Given the description of an element on the screen output the (x, y) to click on. 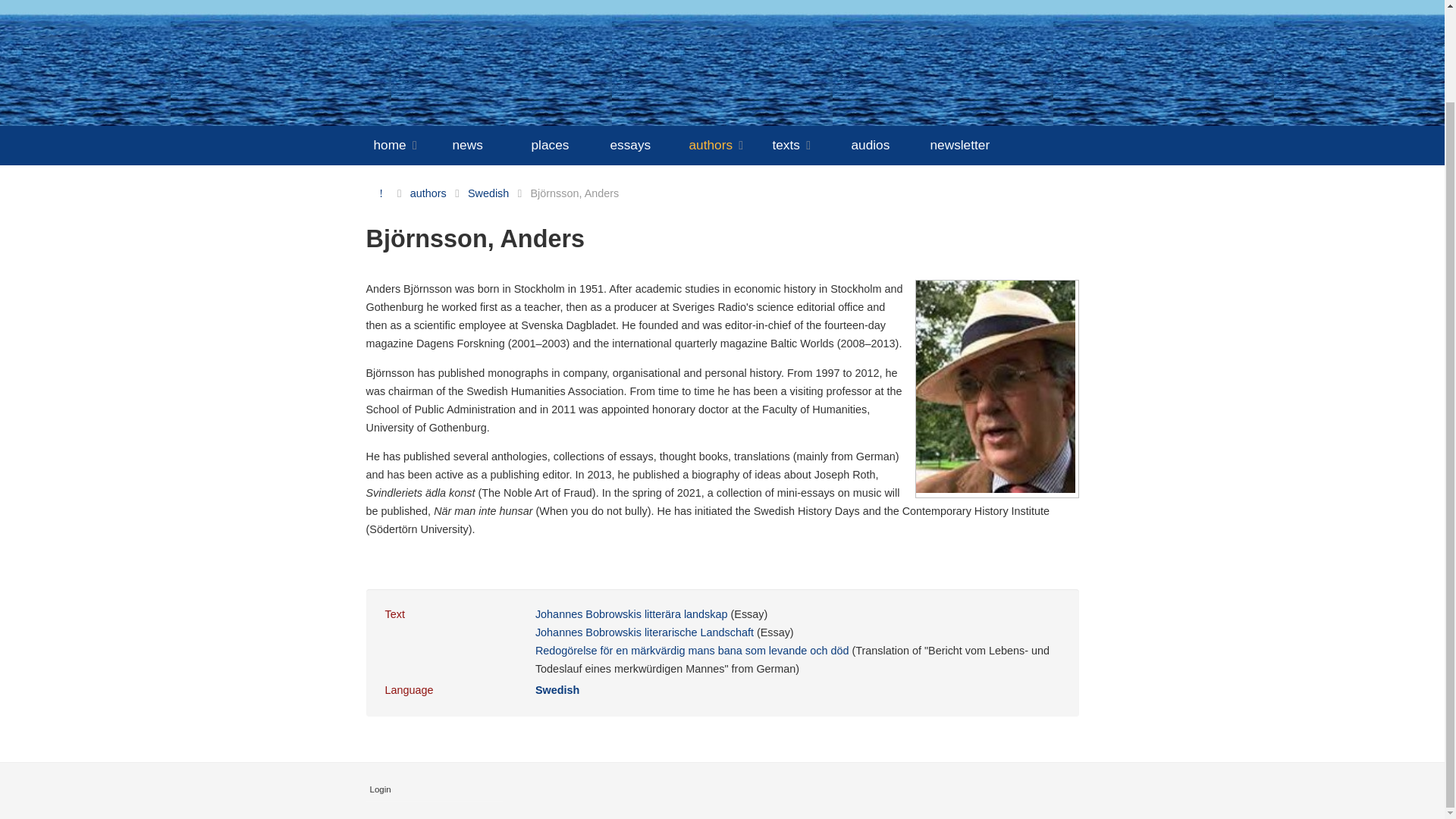
places (566, 144)
authors (726, 145)
Home (380, 193)
news (487, 144)
home (408, 145)
essays (645, 144)
texts (807, 145)
